Given the description of an element on the screen output the (x, y) to click on. 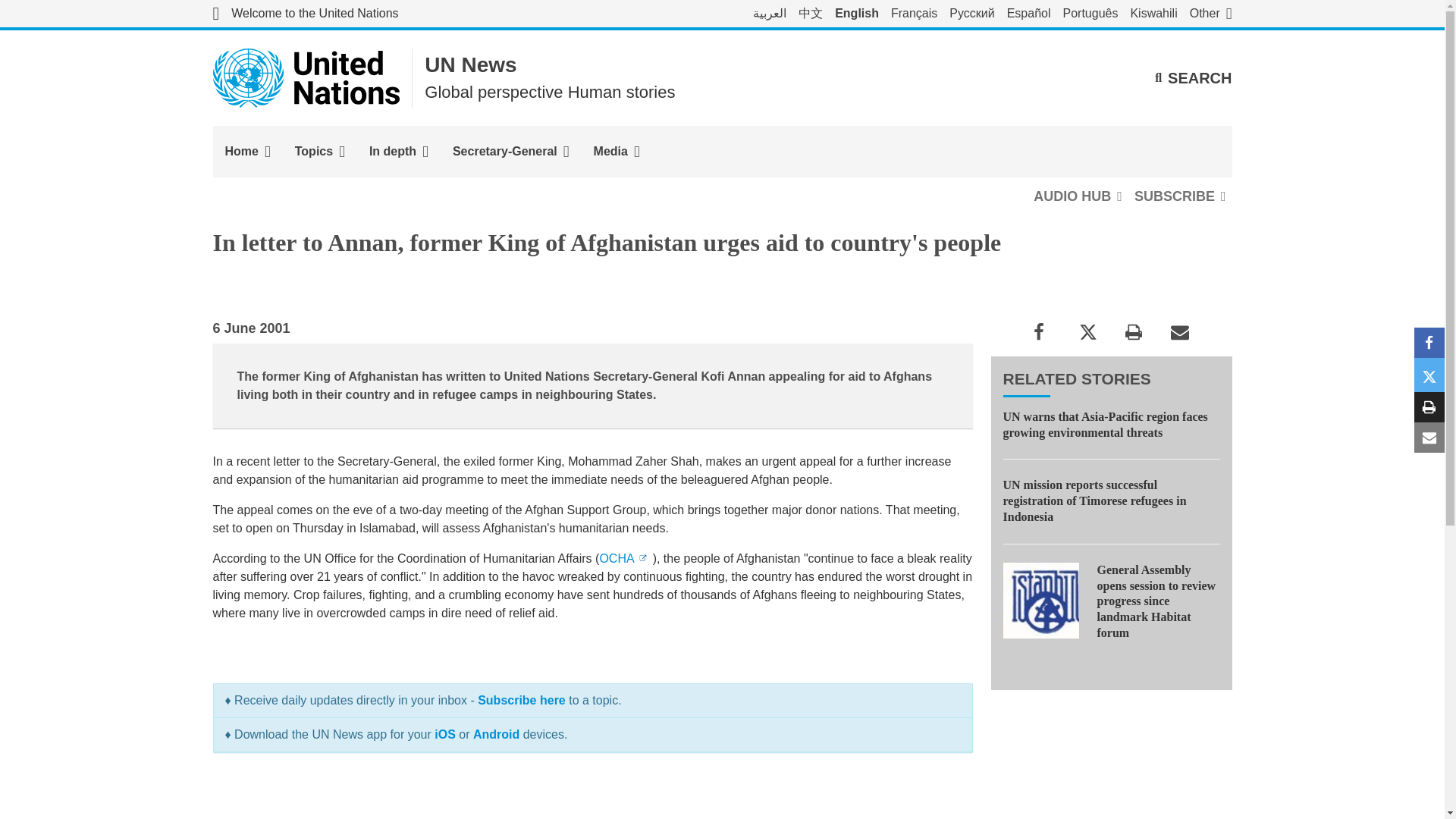
United Nations (304, 13)
Home (247, 151)
Kiswahili (1152, 13)
United Nations (305, 76)
UN News (470, 64)
SEARCH (1192, 77)
Topics (319, 151)
UN News (470, 64)
Welcome to the United Nations (304, 13)
Other (1210, 13)
Home (247, 151)
English (856, 13)
